Given the description of an element on the screen output the (x, y) to click on. 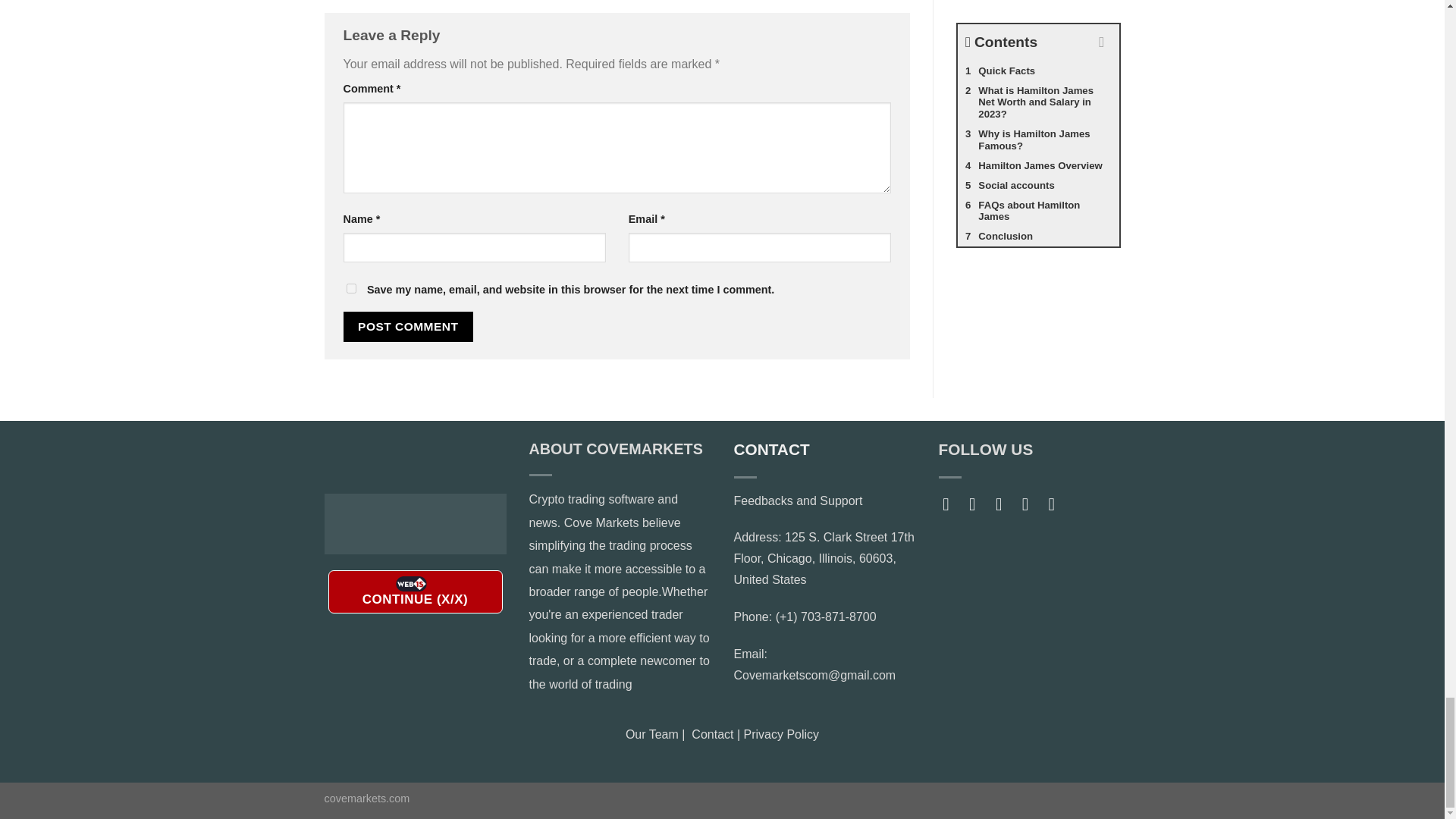
Post Comment (407, 326)
Post Comment (407, 326)
yes (350, 288)
